Given the description of an element on the screen output the (x, y) to click on. 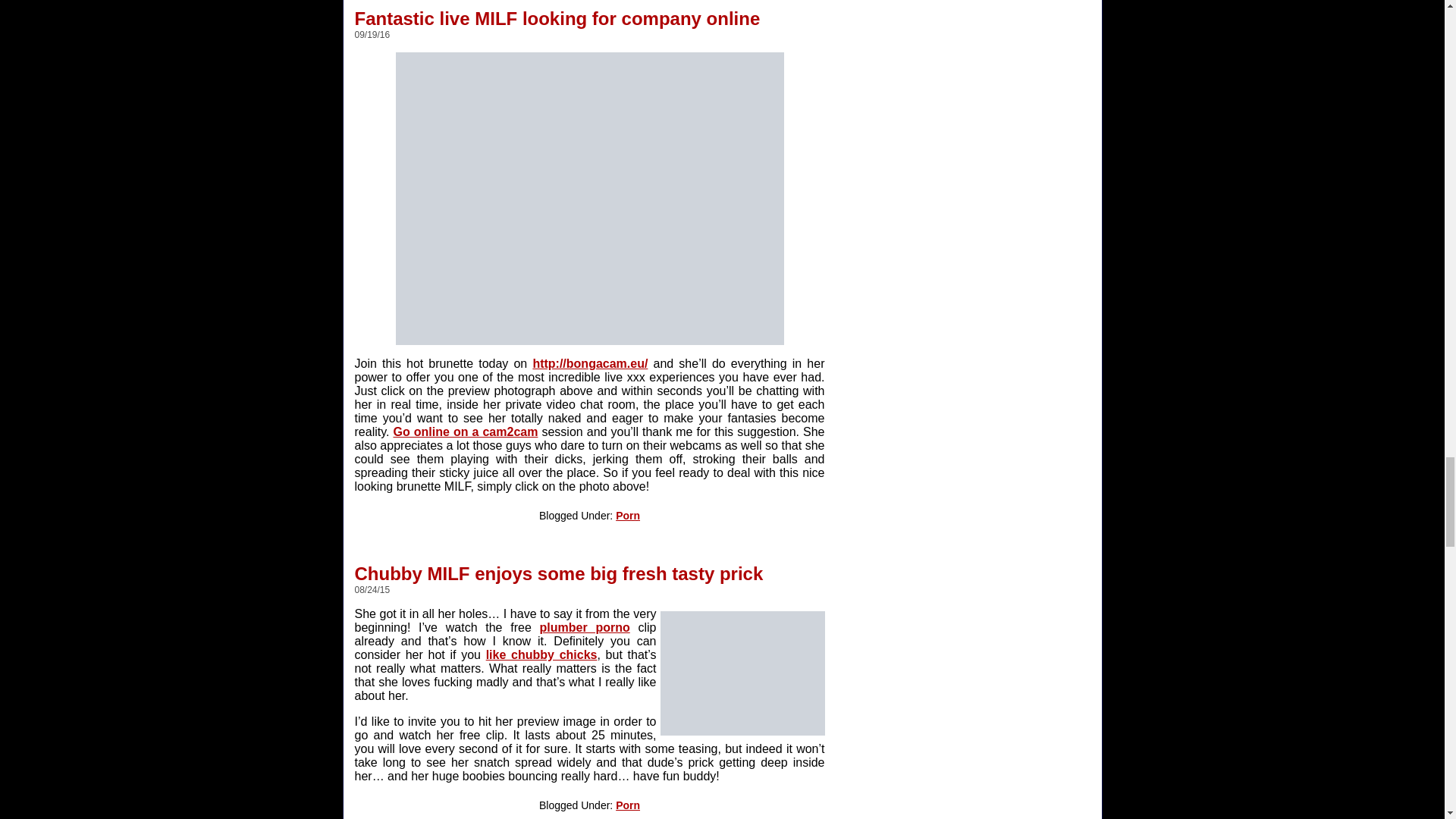
bigtits (741, 672)
plumber porno (585, 626)
plumber porno (585, 626)
brunettemilf (590, 198)
Porn (627, 805)
Go online on a cam2cam (465, 431)
like chubby chicks (541, 654)
Porn (627, 515)
Fantastic live MILF looking for company online (557, 14)
Chubby MILF enjoys some big fresh tasty prick (558, 567)
